Given the description of an element on the screen output the (x, y) to click on. 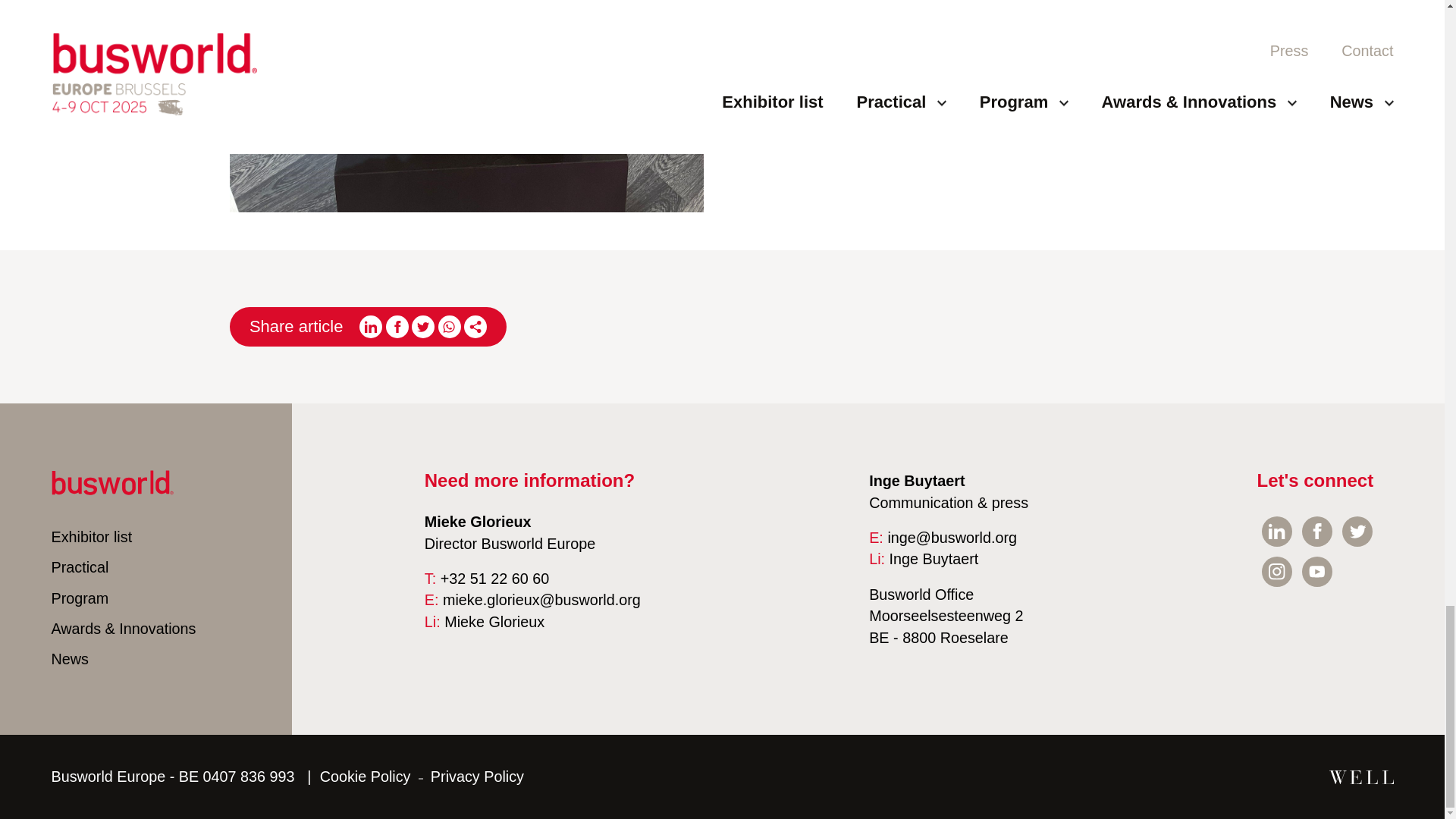
Visit our LinkedIn page (1277, 531)
Visit our Facebook page (1316, 531)
Visit the website from our partner WELL (1360, 776)
News (69, 658)
Exhibitor list (91, 536)
Mieke Glorieux (494, 621)
Visit our Instagram page (1277, 571)
Visit our YouTube page (1316, 571)
Inge Buytaert (933, 558)
Visit our Twitter page (1357, 531)
Program (79, 597)
Practical (79, 566)
